Given the description of an element on the screen output the (x, y) to click on. 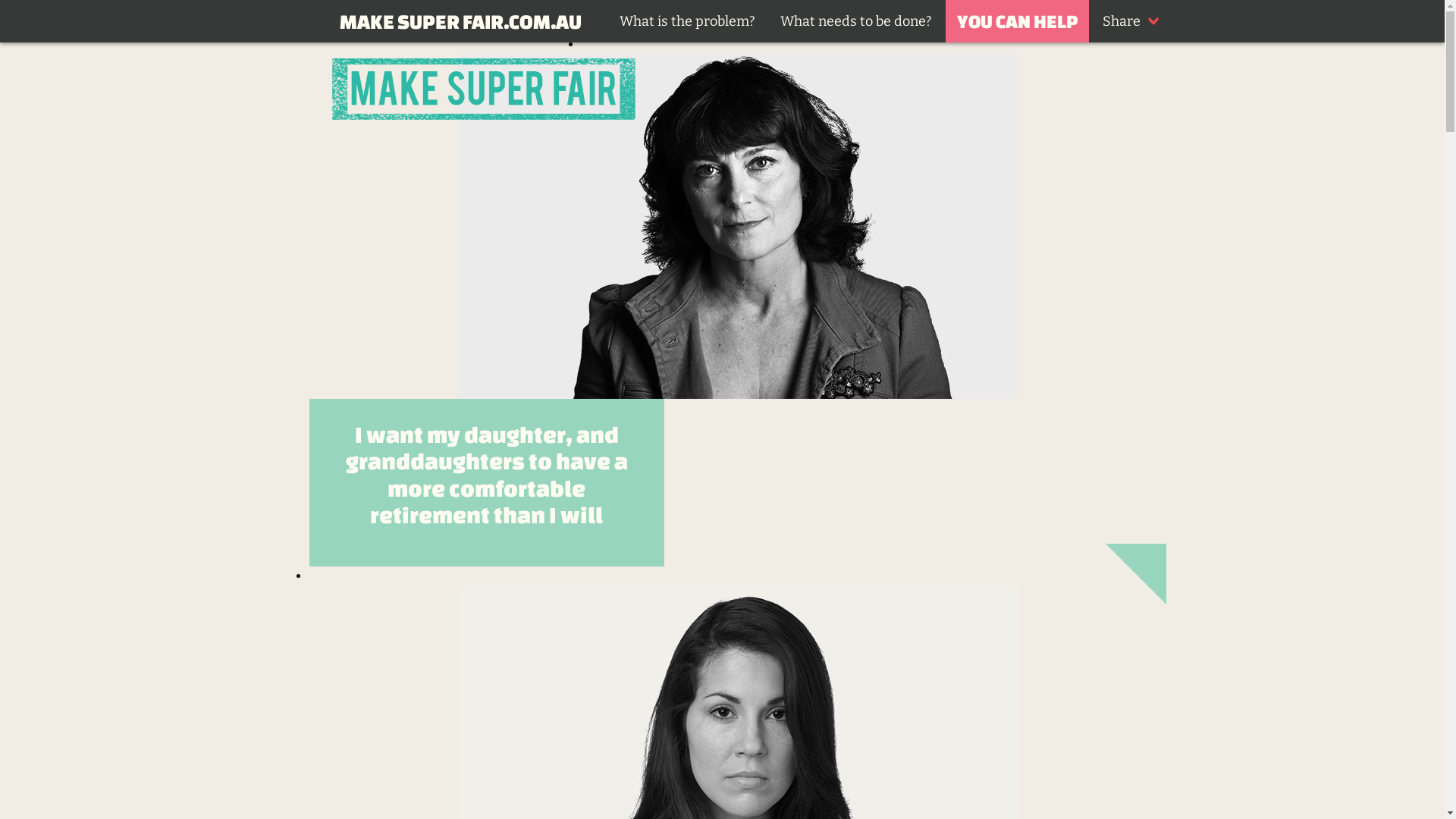
Share Element type: text (1128, 21)
YOU CAN HELP Element type: text (1016, 21)
MAKE SUPER FAIR.COM.AU Element type: text (460, 21)
What needs to be done? Element type: text (855, 21)
What is the problem? Element type: text (687, 21)
